Given the description of an element on the screen output the (x, y) to click on. 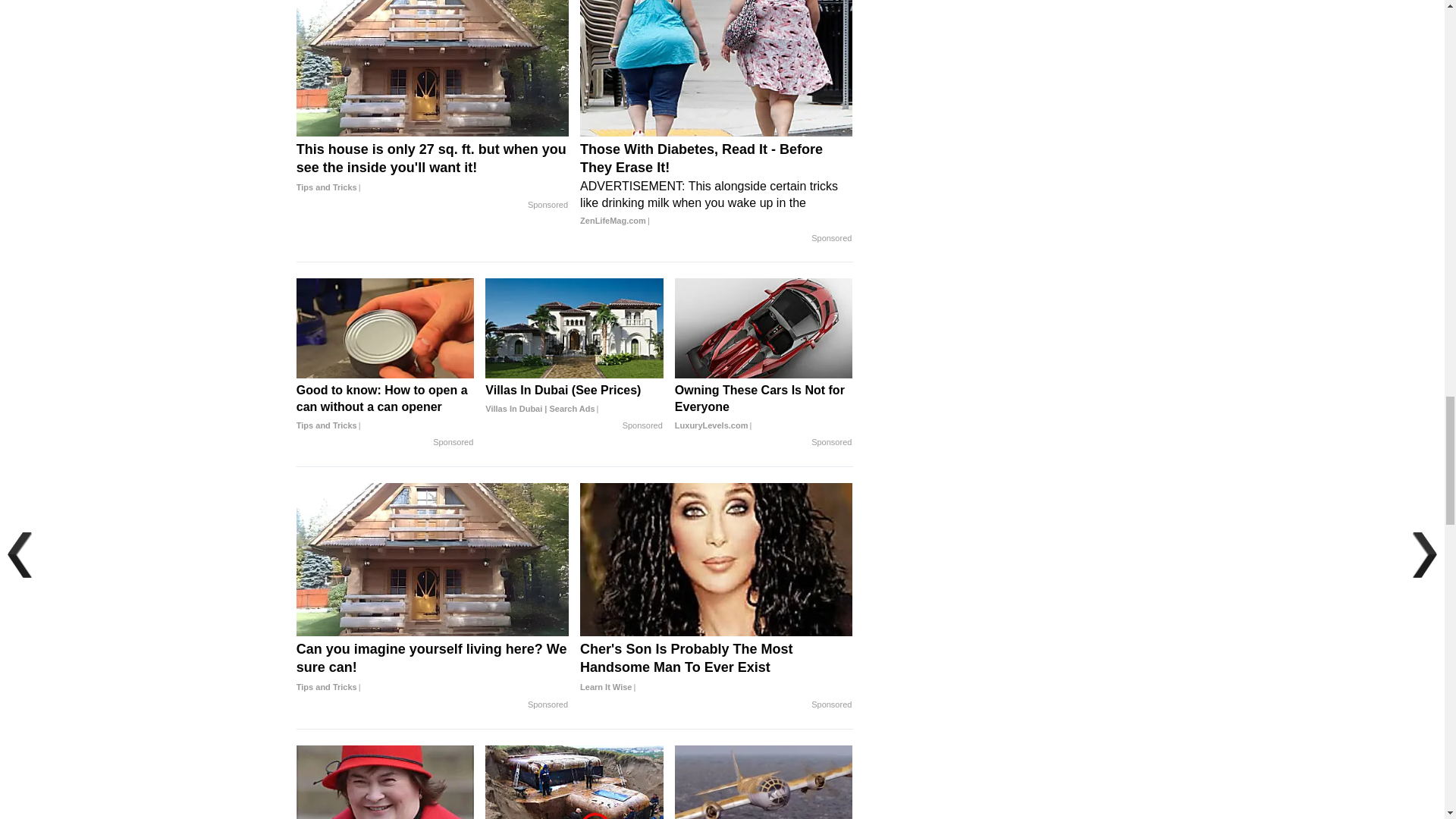
Those With Diabetes, Read It - Before They Erase It! (715, 185)
